Given the description of an element on the screen output the (x, y) to click on. 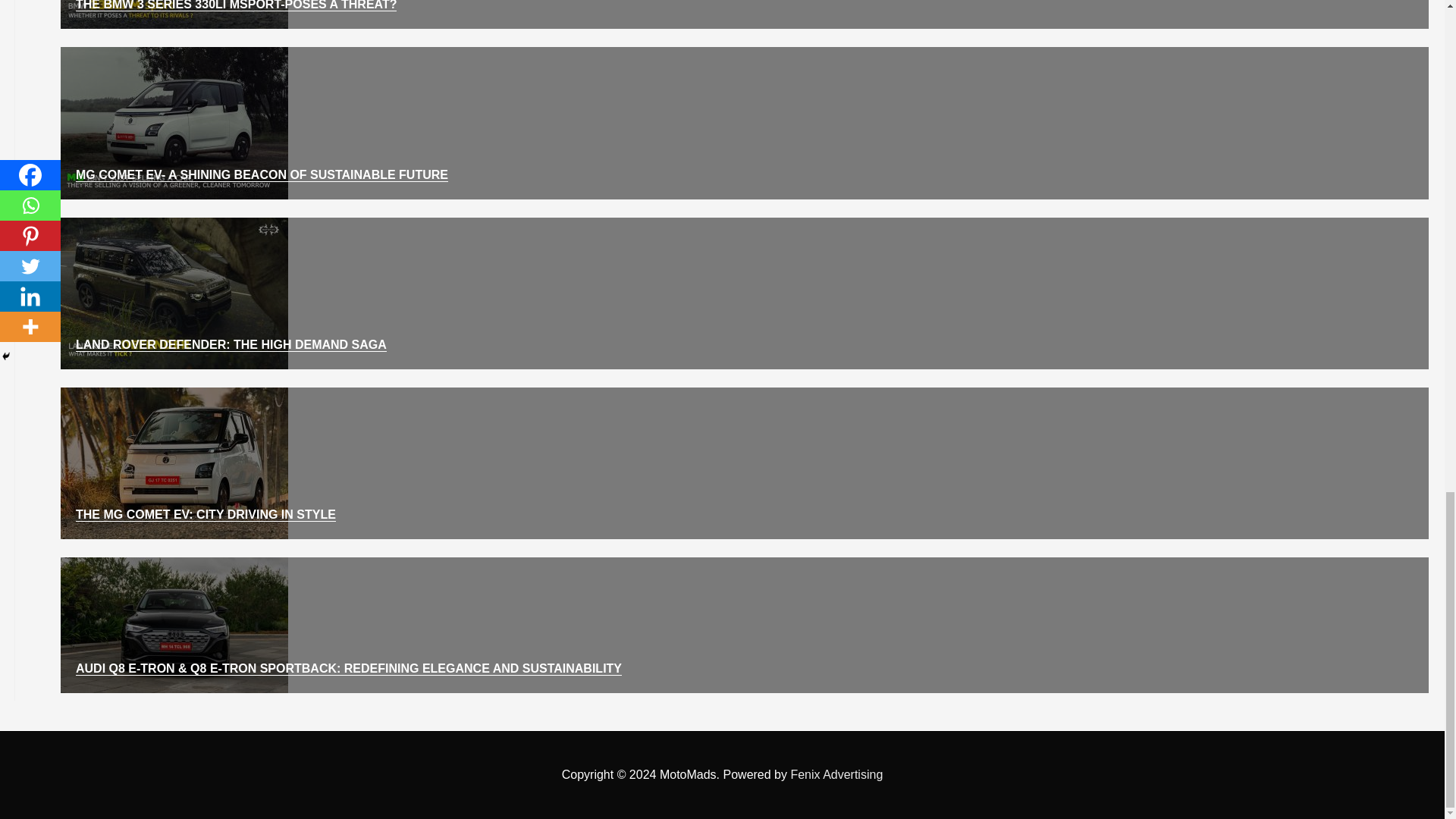
THE BMW 3 SERIES 330LI MSPORT-POSES A THREAT? (235, 5)
MG COMET EV- A SHINING BEACON OF SUSTAINABLE FUTURE (261, 174)
Fenix Advertising (836, 774)
THE MG COMET EV: CITY DRIVING IN STYLE (205, 514)
LAND ROVER DEFENDER: THE HIGH DEMAND SAGA (231, 345)
